Given the description of an element on the screen output the (x, y) to click on. 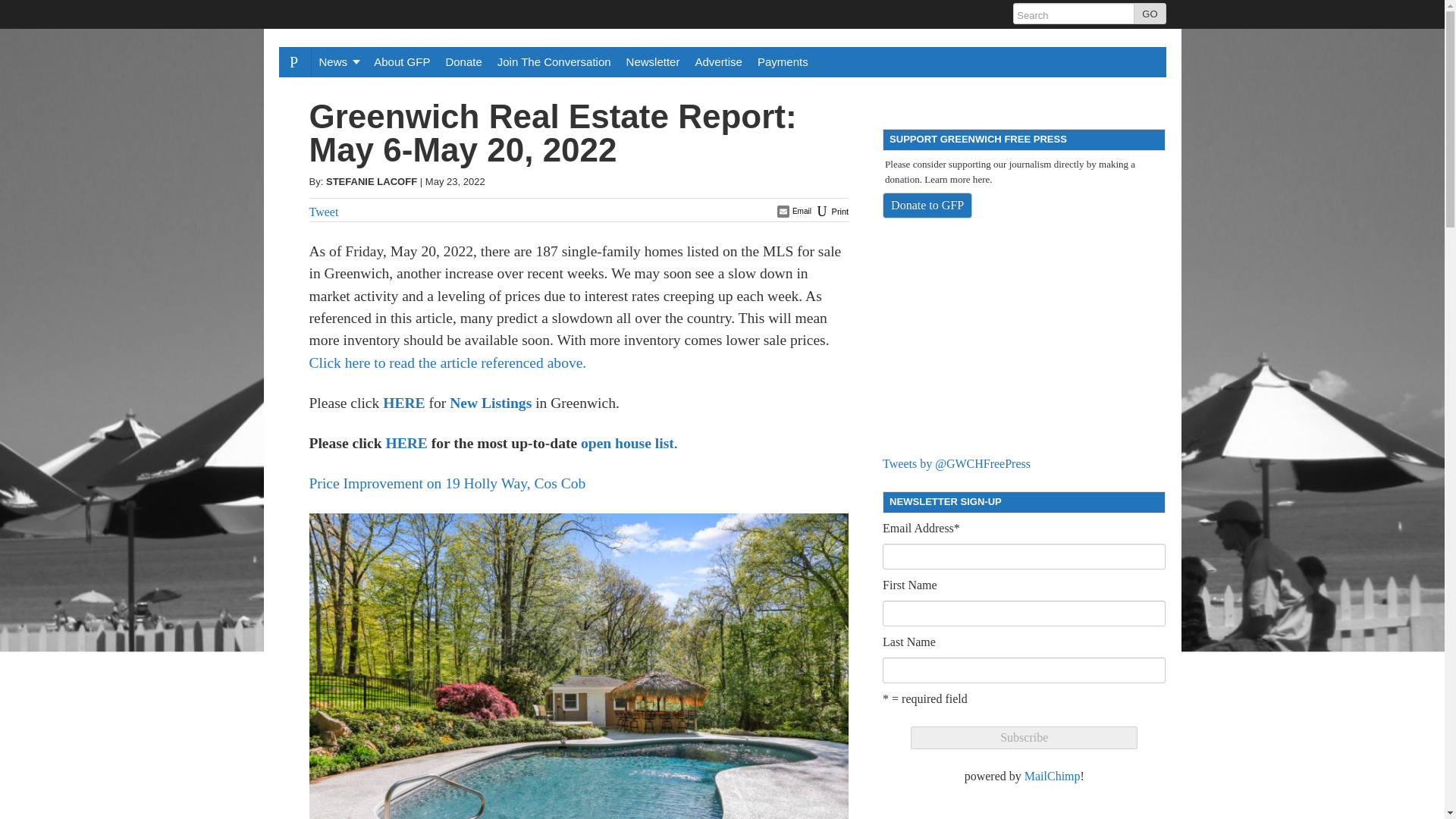
HERE (405, 442)
Tweet (323, 211)
News (338, 61)
Join The Conversation (553, 61)
Subscribe (1024, 737)
New Listings (490, 402)
Click here to read the article referenced above. (447, 362)
Donate (463, 61)
HERE (403, 402)
Newsletter (652, 61)
